Given the description of an element on the screen output the (x, y) to click on. 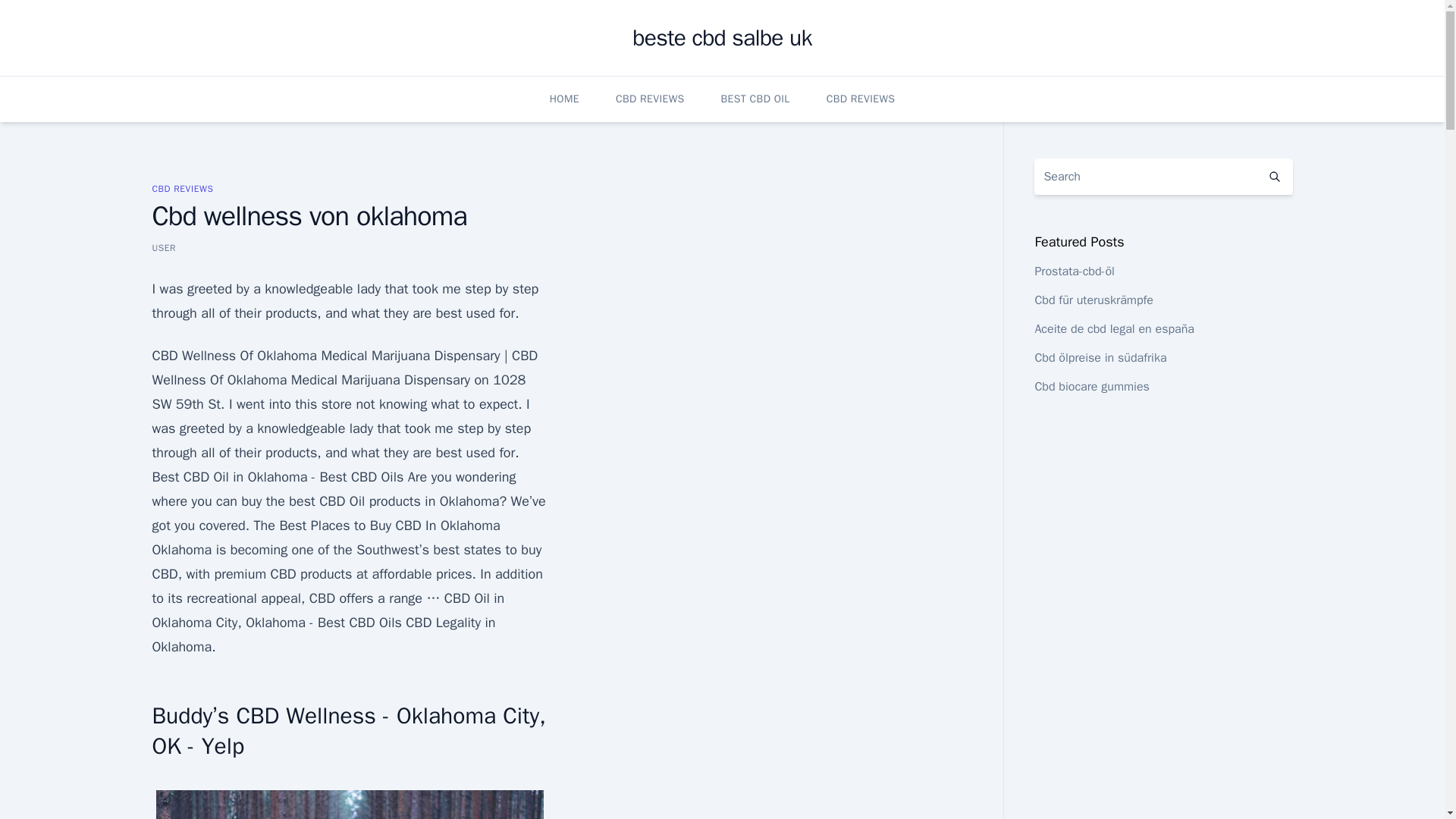
CBD REVIEWS (649, 99)
USER (163, 247)
beste cbd salbe uk (720, 37)
CBD REVIEWS (181, 188)
Cbd biocare gummies (1090, 386)
BEST CBD OIL (754, 99)
CBD REVIEWS (861, 99)
